Given the description of an element on the screen output the (x, y) to click on. 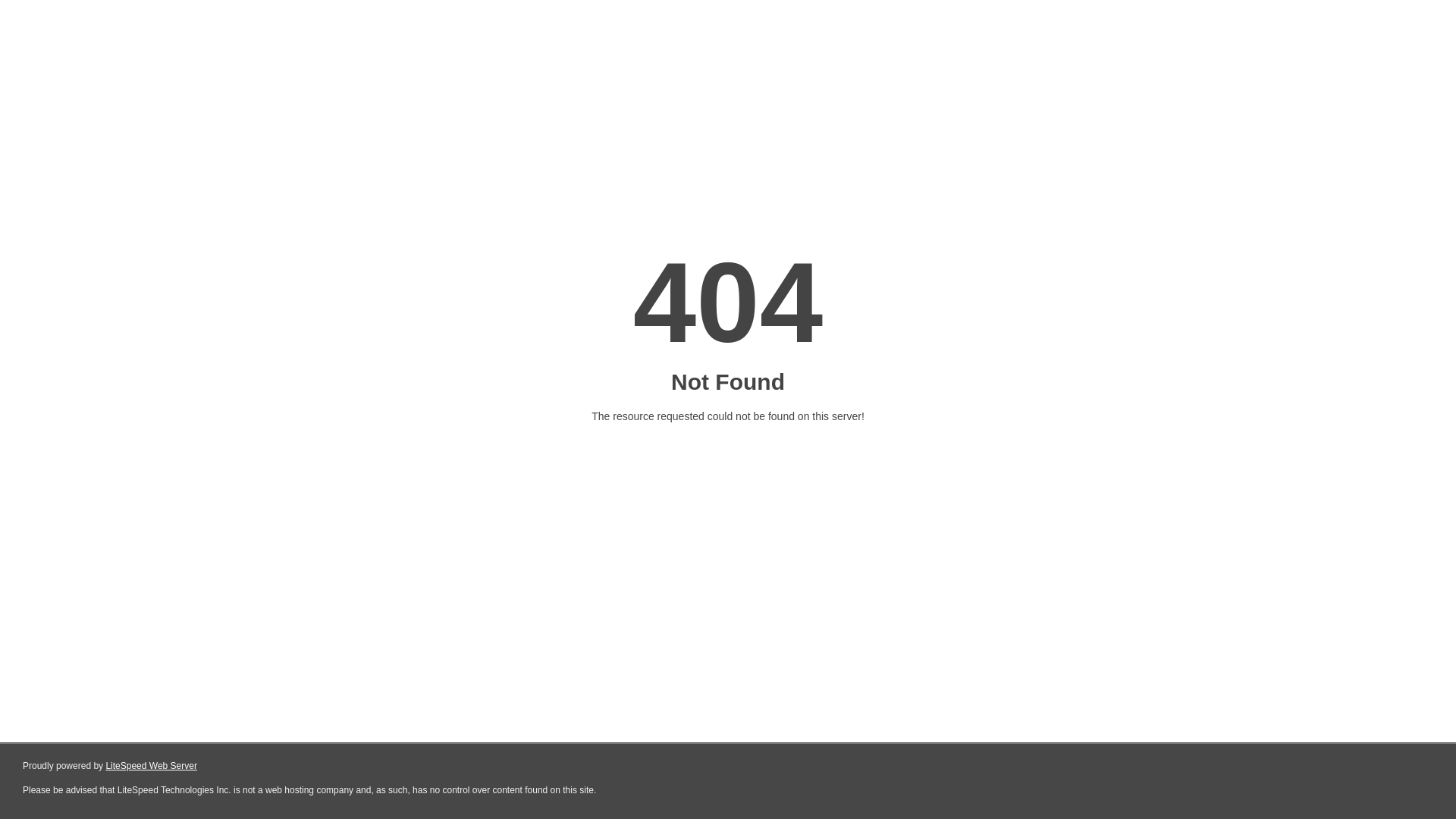
LiteSpeed Web Server Element type: text (151, 765)
